Given the description of an element on the screen output the (x, y) to click on. 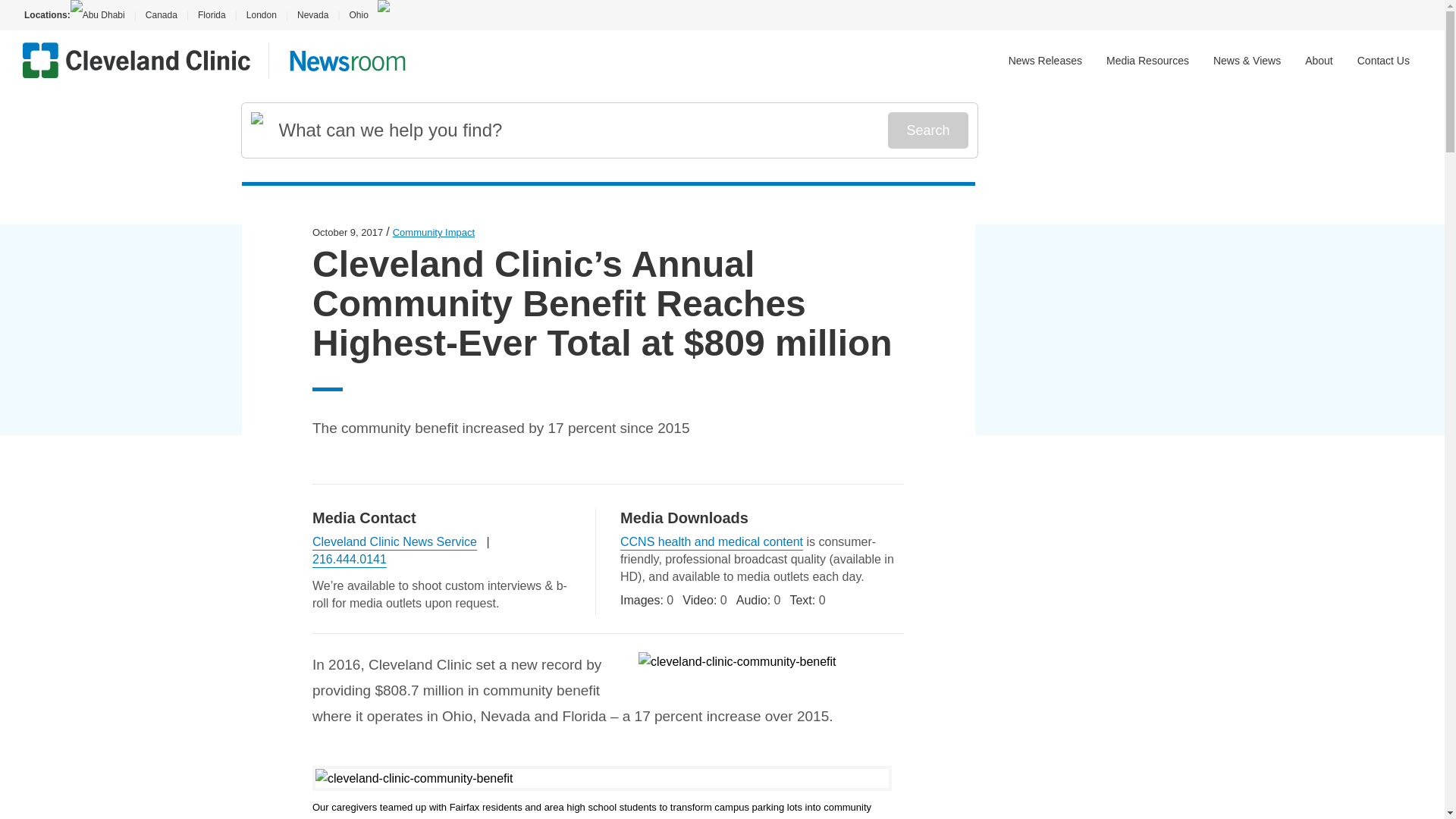
Community Impact (433, 232)
Canada (161, 15)
Florida (211, 15)
Media Resources (1147, 60)
About (1318, 60)
Contact Us (1382, 60)
216.444.0141 (350, 558)
CCNS health and medical content (711, 541)
Ohio (358, 15)
Nevada (312, 15)
